Given the description of an element on the screen output the (x, y) to click on. 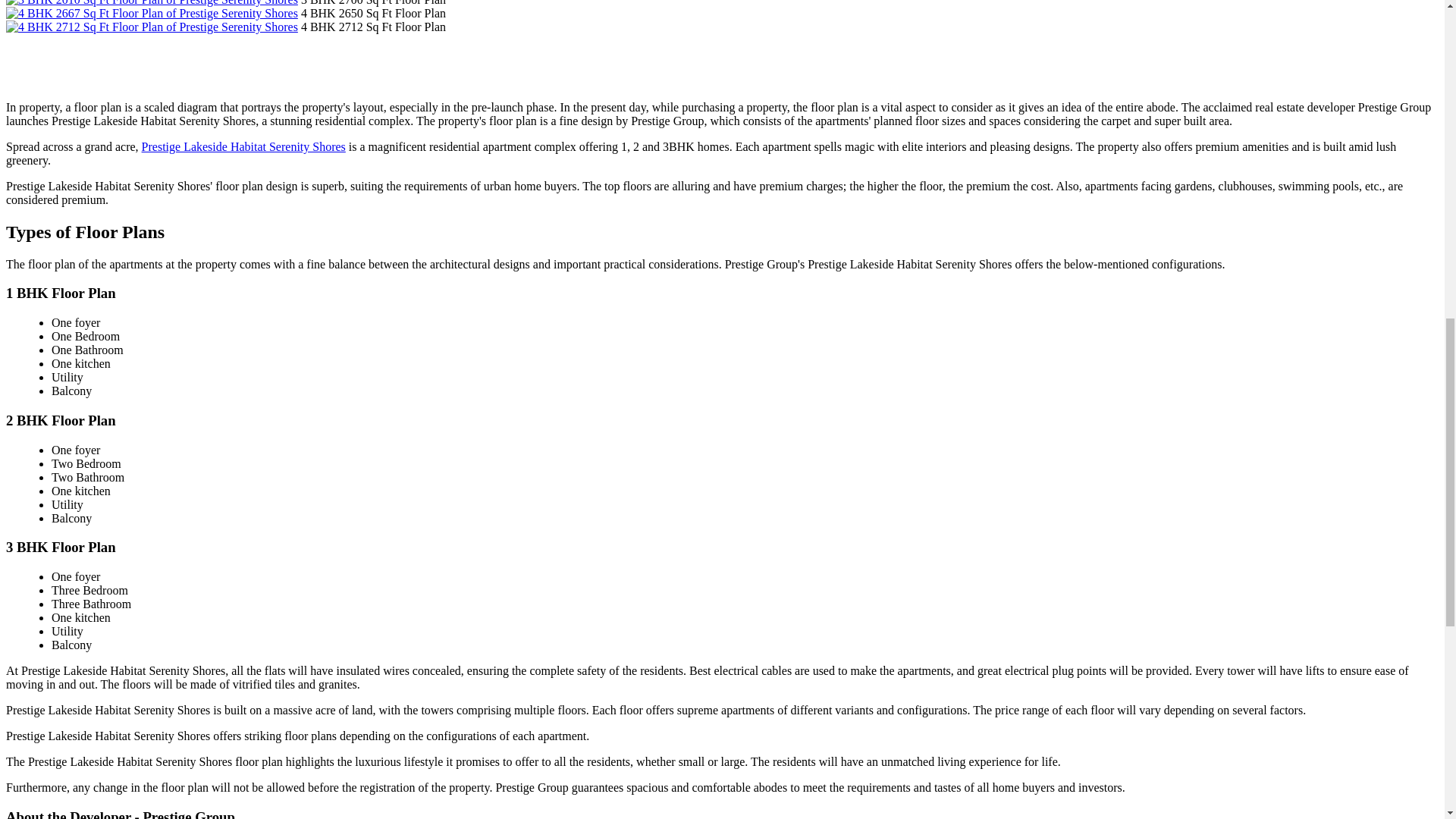
Prestige Lakeside Habitat Serenity Shores (243, 146)
Prestige Lakeside Habitat Serenity Shores (243, 146)
4 BHK 2712 Sq Ft Floor Plan of Prestige Serenity Shores (151, 26)
3 BHK 2010 Sq Ft Floor Plan of Prestige Serenity Shores (151, 2)
4 BHK 2667 Sq Ft Floor Plan of Prestige Serenity Shores (151, 12)
